Given the description of an element on the screen output the (x, y) to click on. 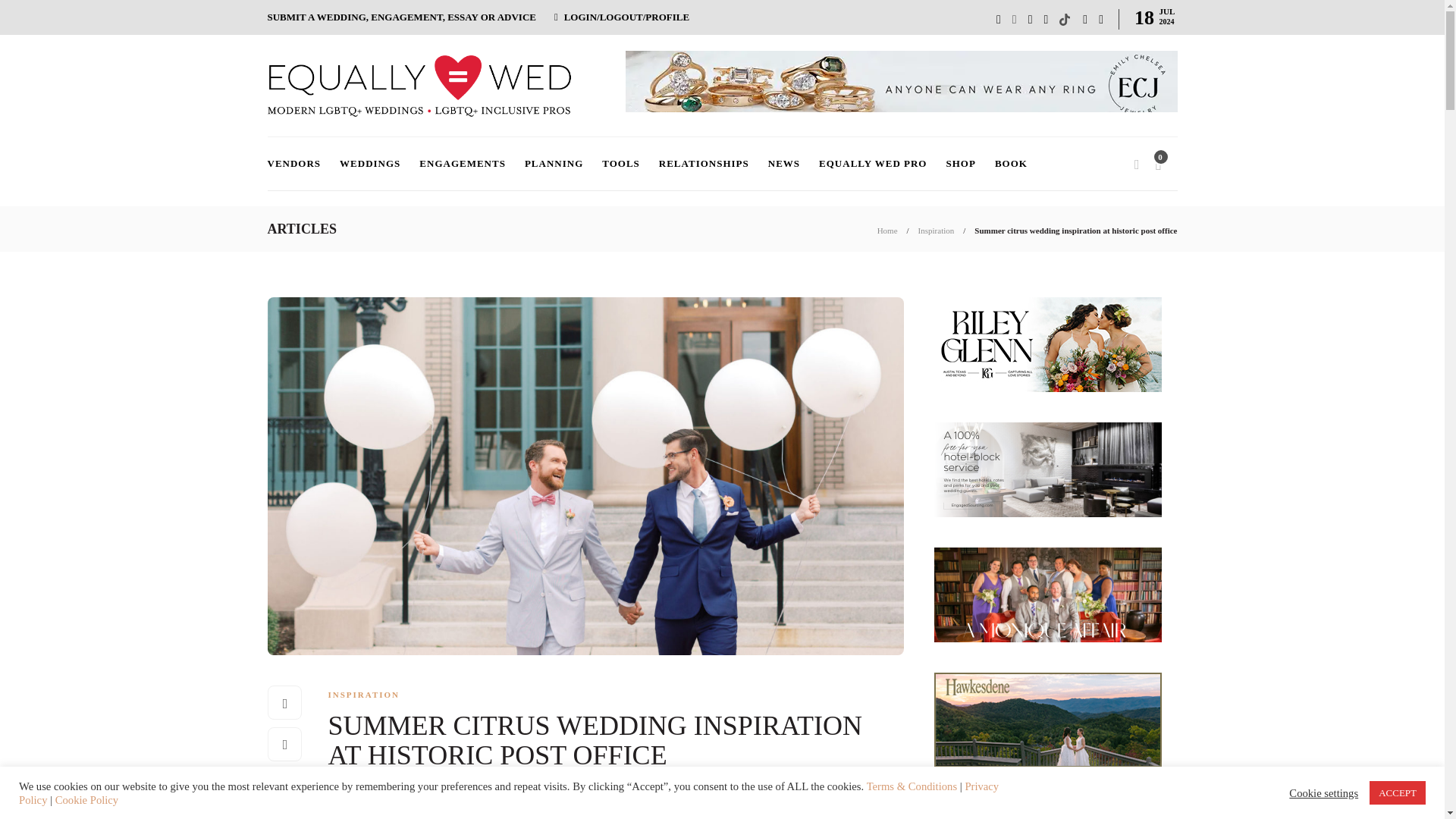
Home (887, 230)
Summer citrus wedding inspiration at historic post office (1075, 230)
